Given the description of an element on the screen output the (x, y) to click on. 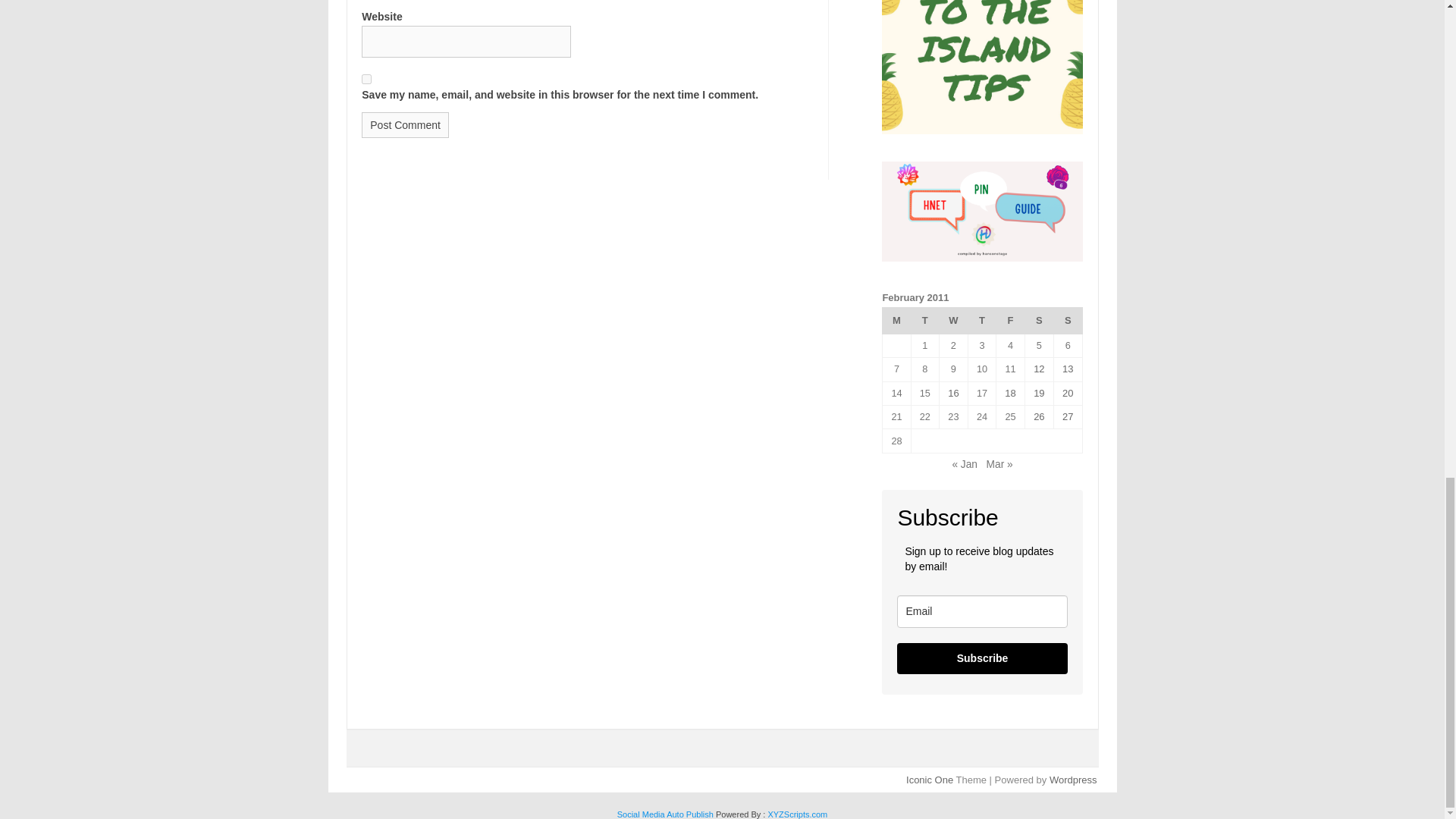
Saturday (1038, 320)
Tuesday (925, 320)
Monday (896, 320)
Thursday (981, 320)
Wednesday (953, 320)
Sunday (1066, 320)
Post Comment (404, 125)
yes (366, 79)
Friday (1010, 320)
